Given the description of an element on the screen output the (x, y) to click on. 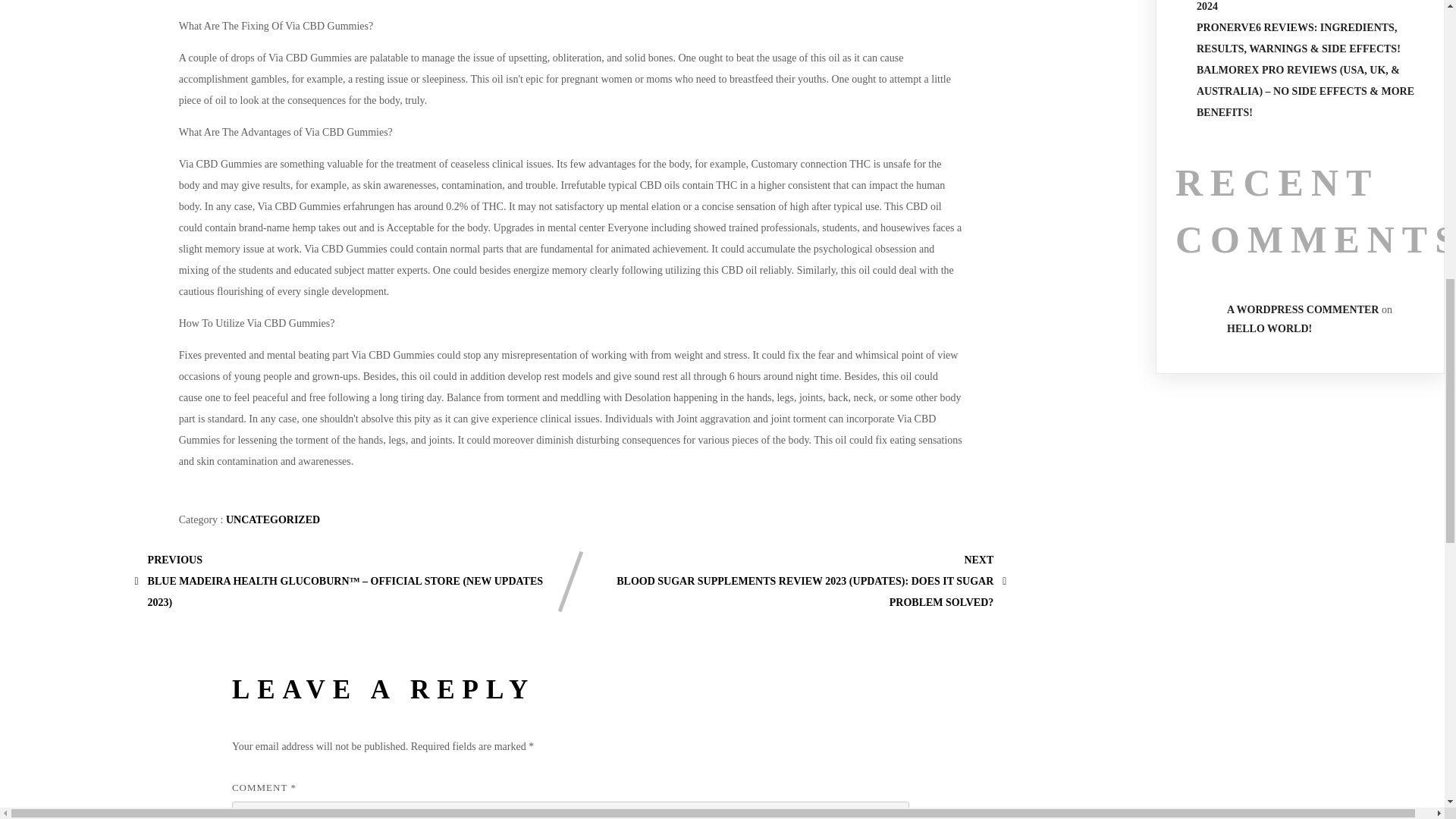
HELLO WORLD! (1269, 328)
A WORDPRESS COMMENTER (1302, 309)
UNCATEGORIZED (272, 519)
